Given the description of an element on the screen output the (x, y) to click on. 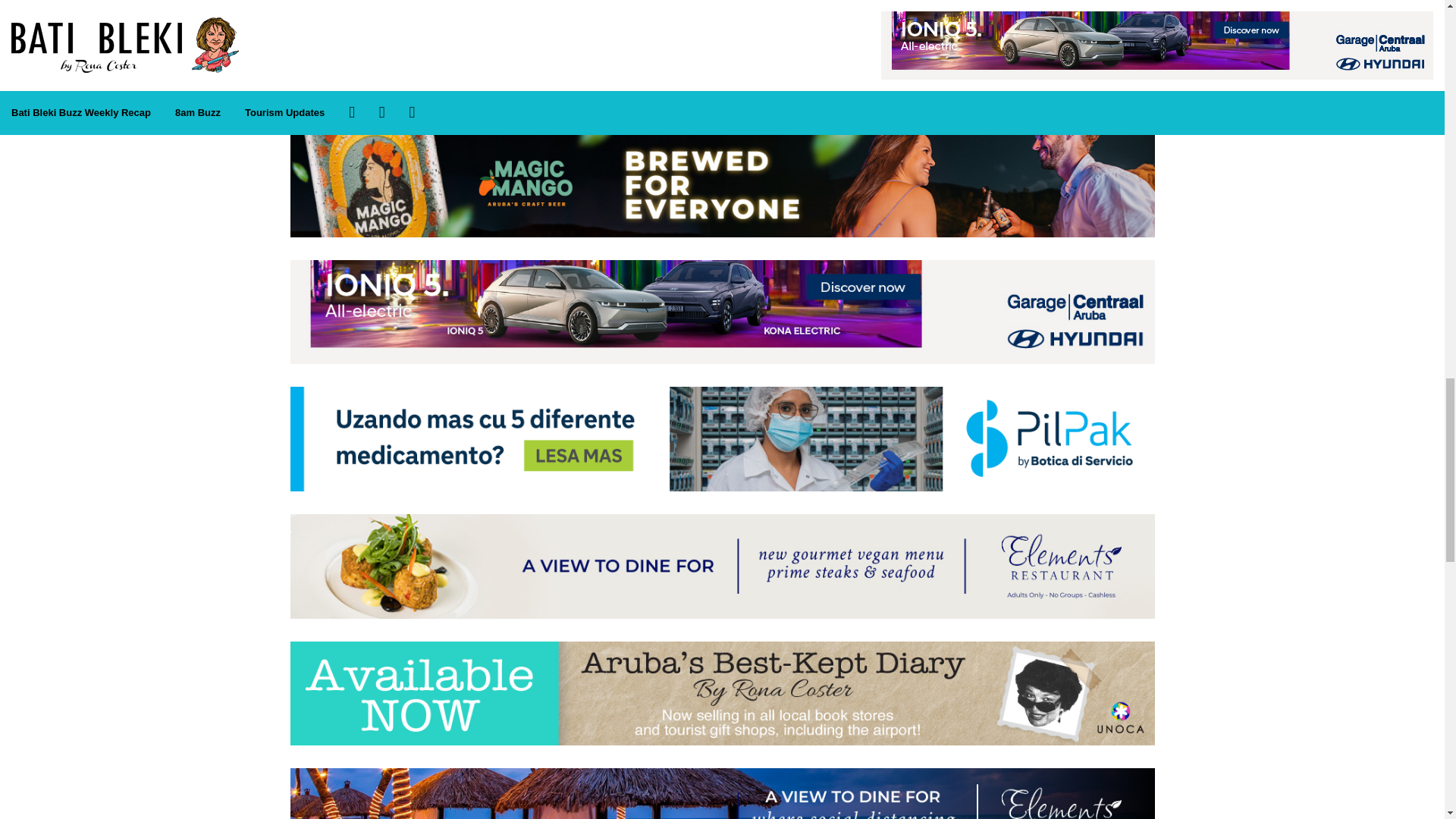
Next (721, 65)
Previous (328, 64)
BATI BLEKI BUZZ, WEEKLY RECAP, JULY 30TH, 2023 (425, 21)
HOW DO BEES TALK TO EACH OTHER (722, 21)
